Given the description of an element on the screen output the (x, y) to click on. 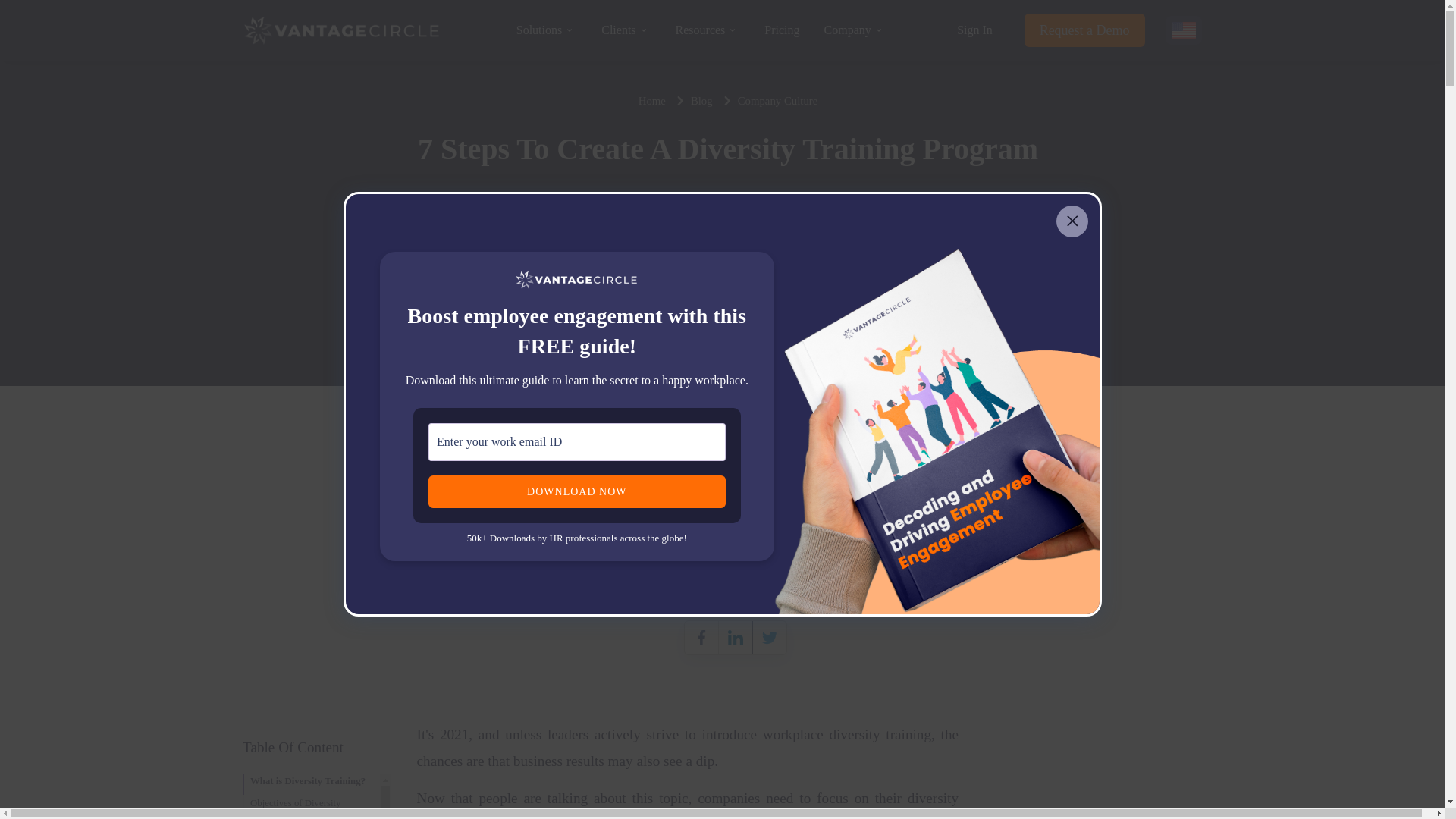
Sign In (974, 30)
DOWNLOAD NOW (576, 491)
Twitter (769, 637)
Linkedin (735, 637)
Facebook (700, 637)
Request a Demo (1084, 29)
